Given the description of an element on the screen output the (x, y) to click on. 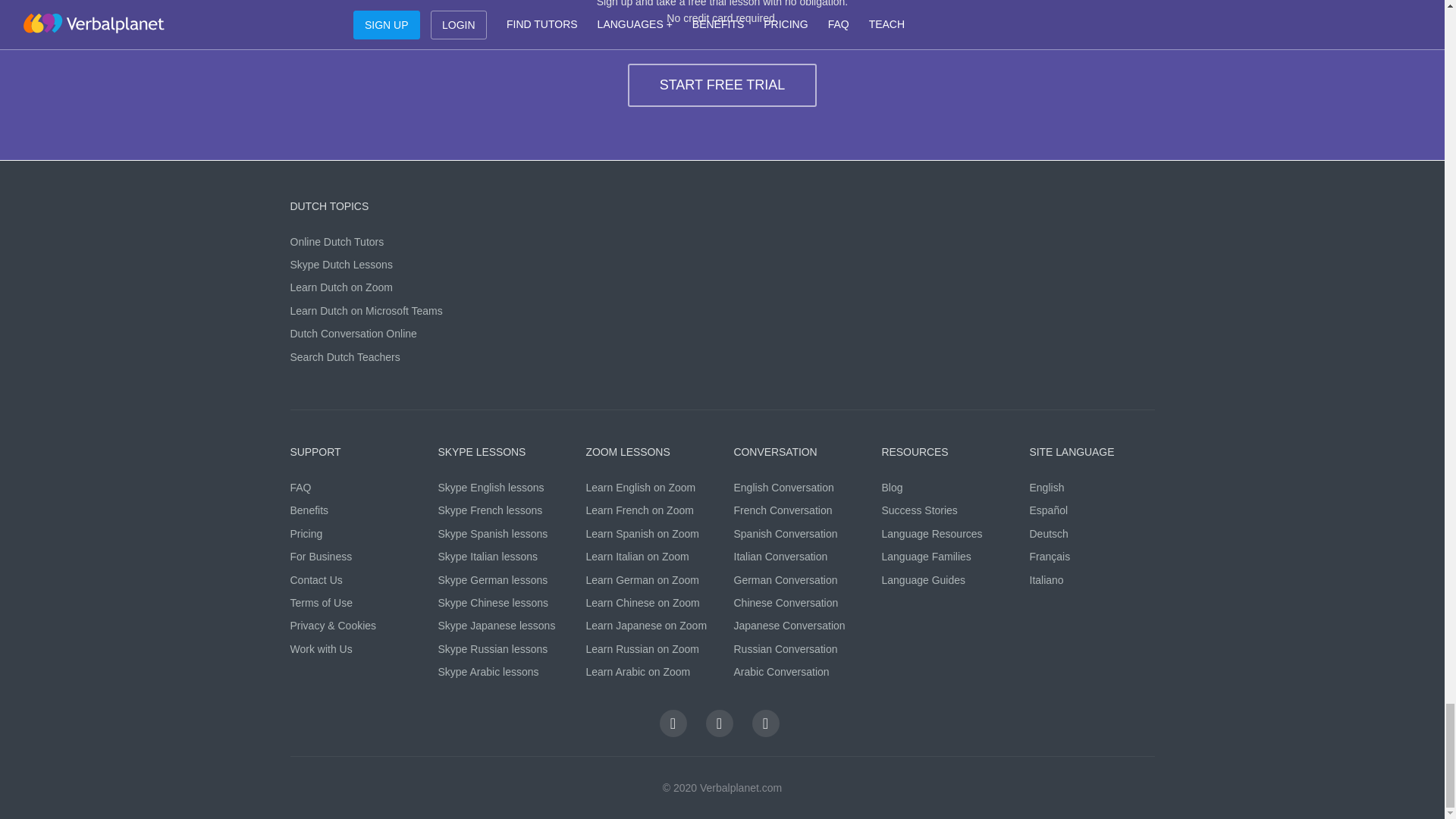
Trustpilot (765, 722)
Facebook (673, 722)
Twitter (718, 722)
